Given the description of an element on the screen output the (x, y) to click on. 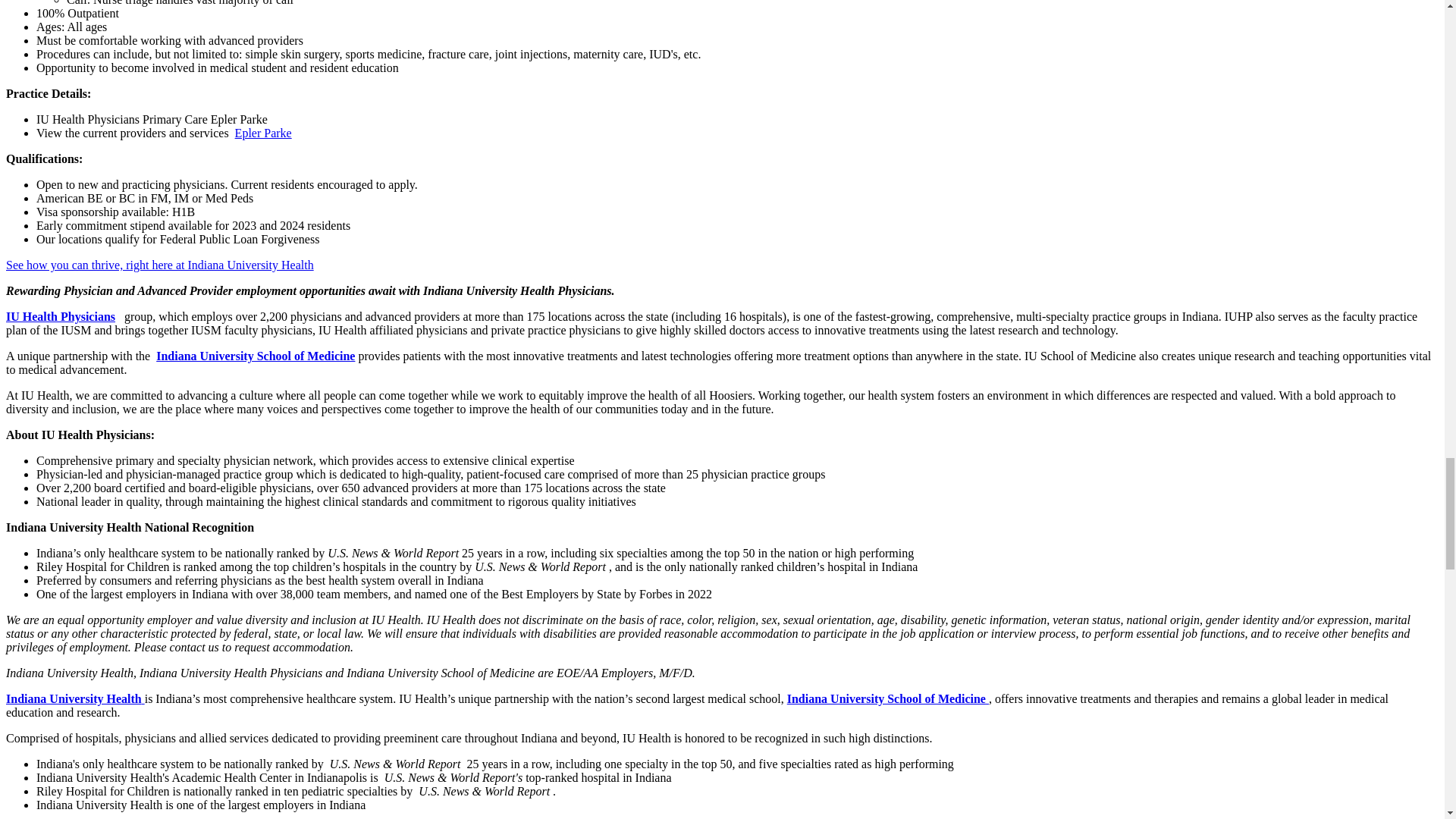
Indiana University Health (74, 698)
Epler Parke (263, 132)
IU Health Physicians (60, 316)
Indiana University School of Medicine (887, 698)
Indiana University School of Medicine (255, 355)
